Given the description of an element on the screen output the (x, y) to click on. 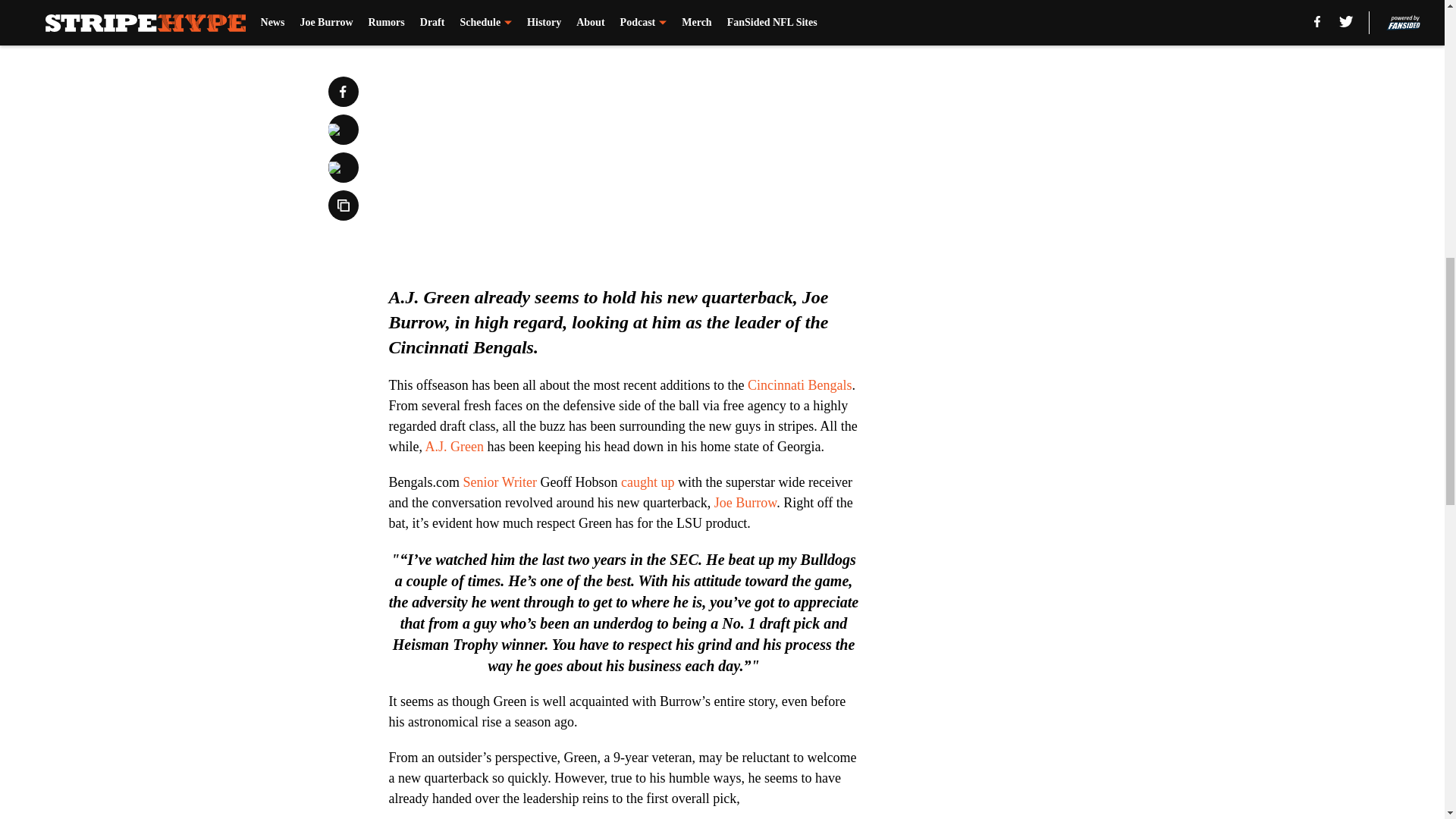
Joe Burrow (745, 502)
A.J. Green (454, 446)
Senior Writer (499, 482)
Cincinnati Bengals (799, 385)
caught up (647, 482)
